Given the description of an element on the screen output the (x, y) to click on. 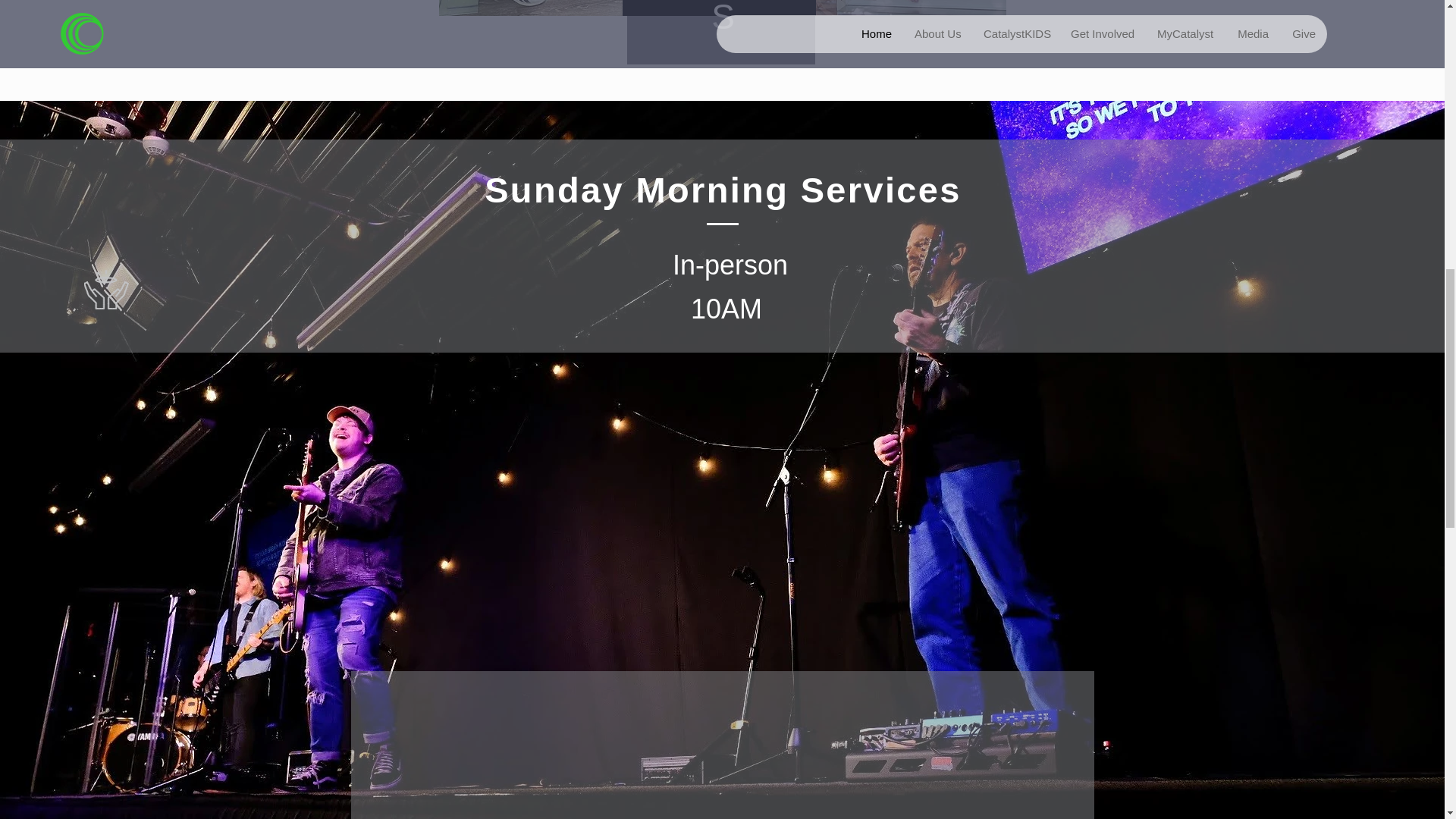
Wes on Guitar .jpeg (726, 7)
Wes on Guitar .jpeg (532, 7)
